Given the description of an element on the screen output the (x, y) to click on. 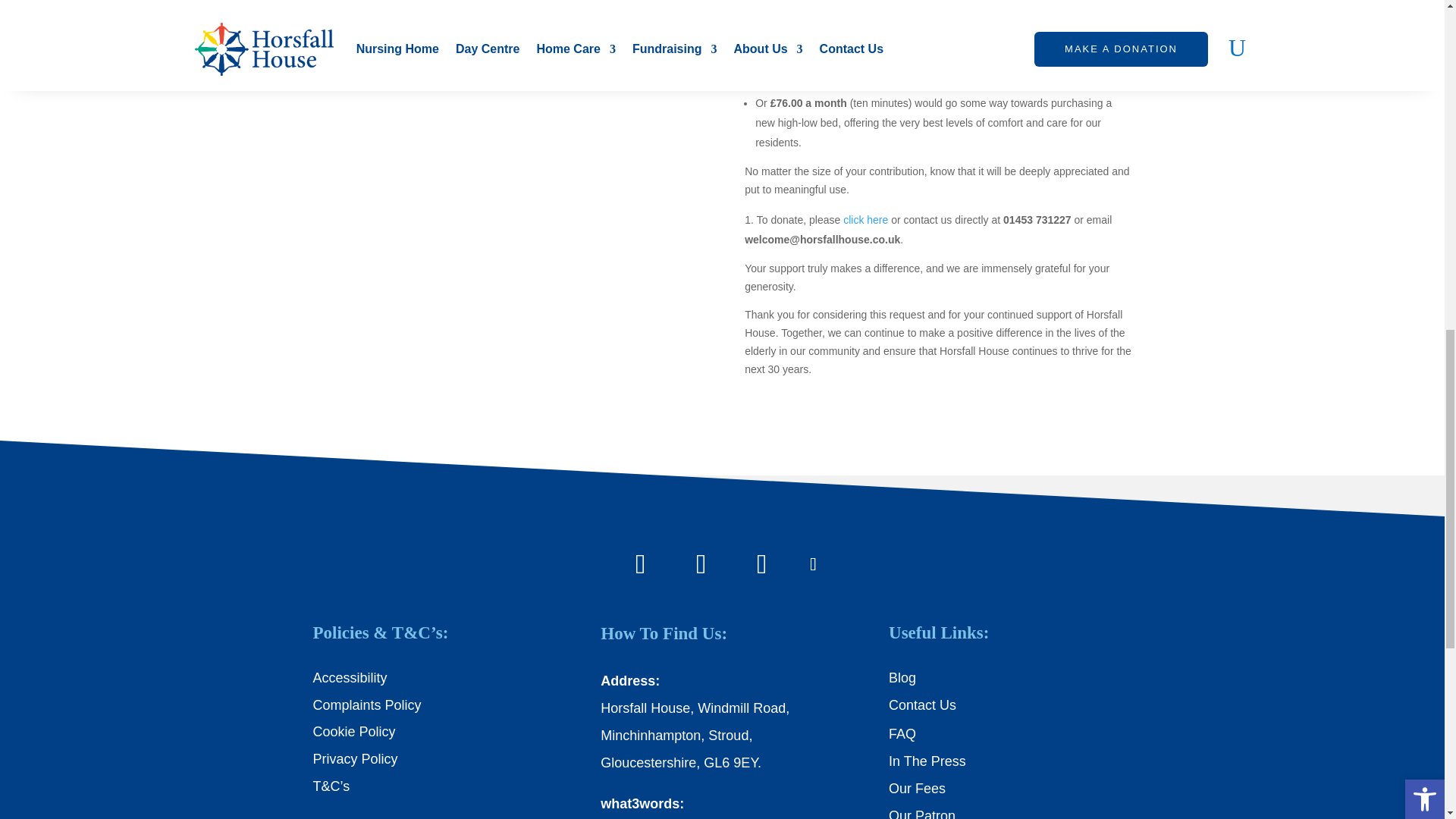
Follow on LinkedIn (761, 564)
Follow on Facebook (639, 564)
Follow on X (812, 564)
Follow on Instagram (700, 564)
